Given the description of an element on the screen output the (x, y) to click on. 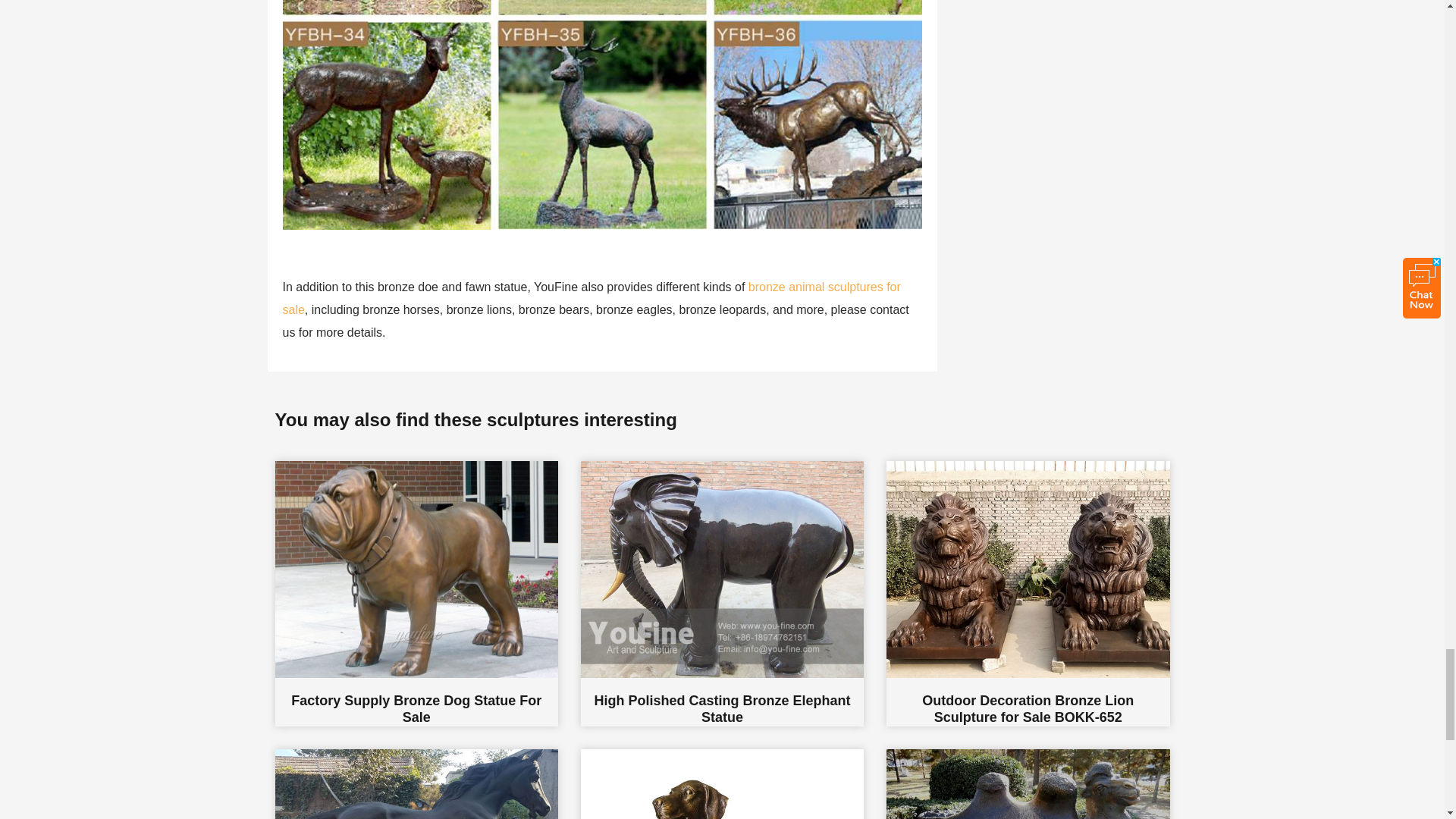
Large Strong Seated Bronze Camel Sculptures (1027, 784)
High Polished Casting Bronze Elephant Statue (721, 593)
Factory Supply Bronze Dog Statue For Sale (416, 593)
Outdoor Decoration Bronze Lion Sculpture for Sale BOKK-652 (1027, 593)
Memorial Home Decoration Bronze Dog Statue (721, 784)
